Given the description of an element on the screen output the (x, y) to click on. 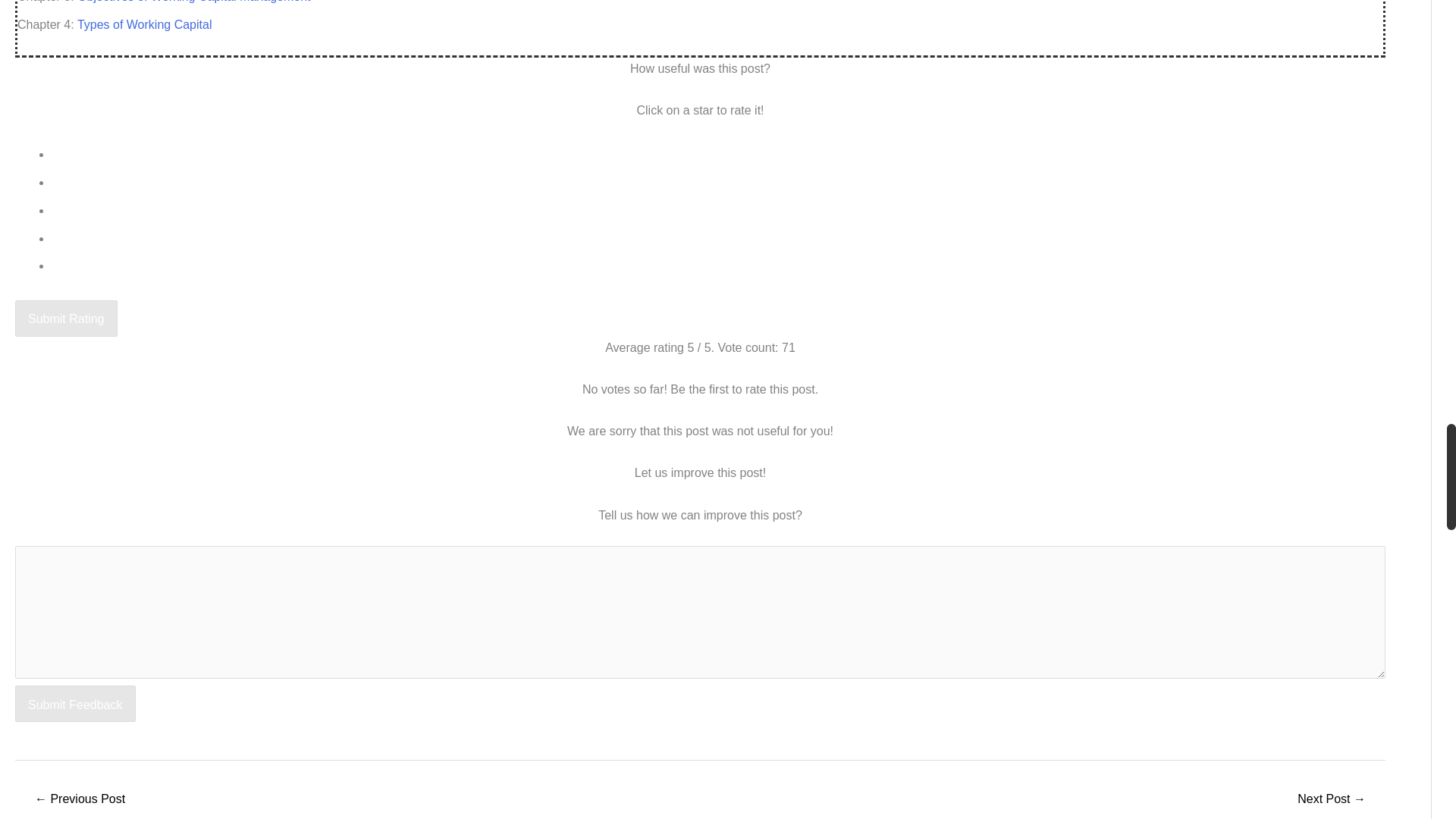
Objectives of Working Capital Management (79, 799)
Finance Quiz - Finance Basics for Beginners (1331, 799)
